Given the description of an element on the screen output the (x, y) to click on. 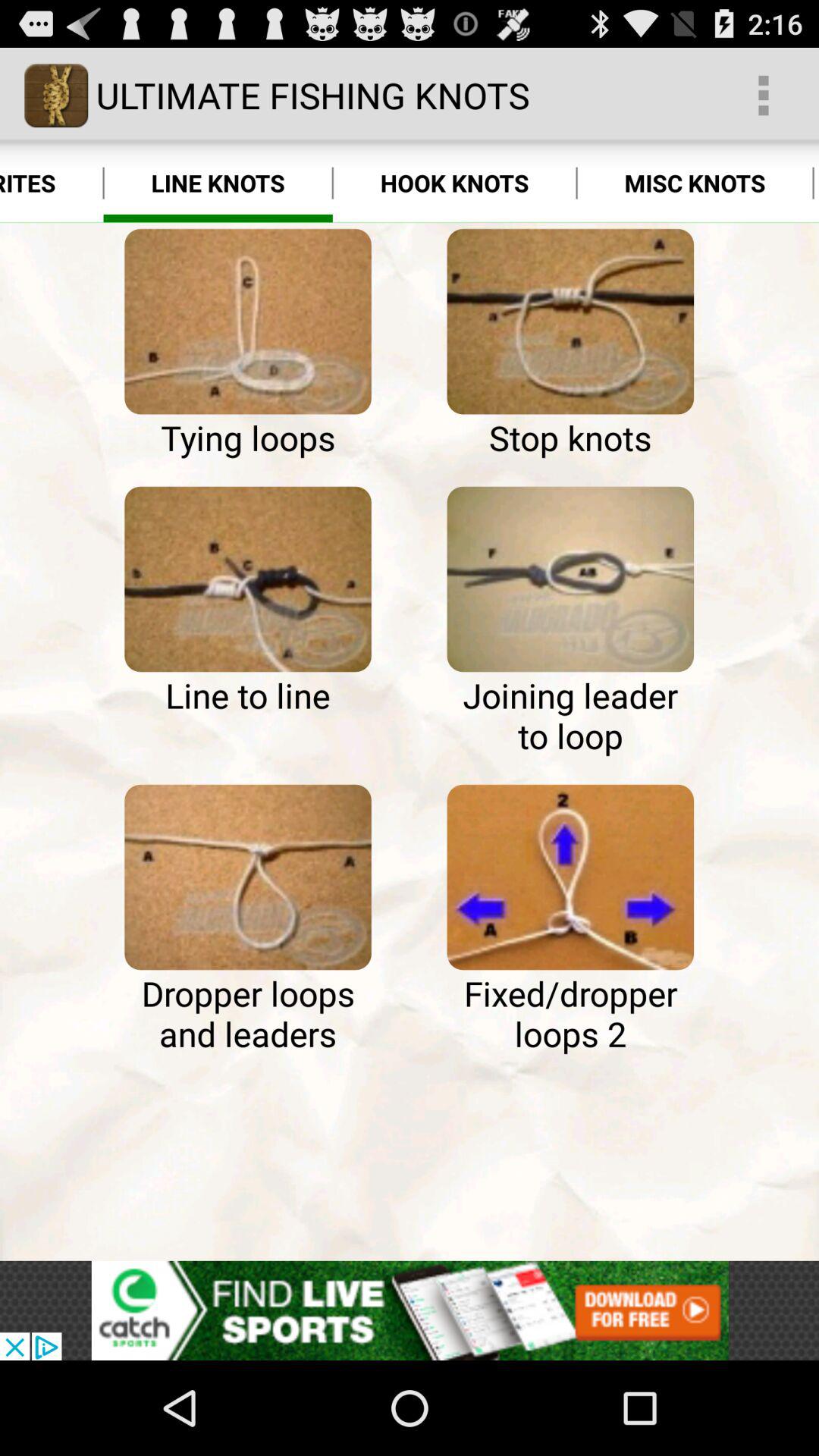
learn how to do tying loops (247, 321)
